Given the description of an element on the screen output the (x, y) to click on. 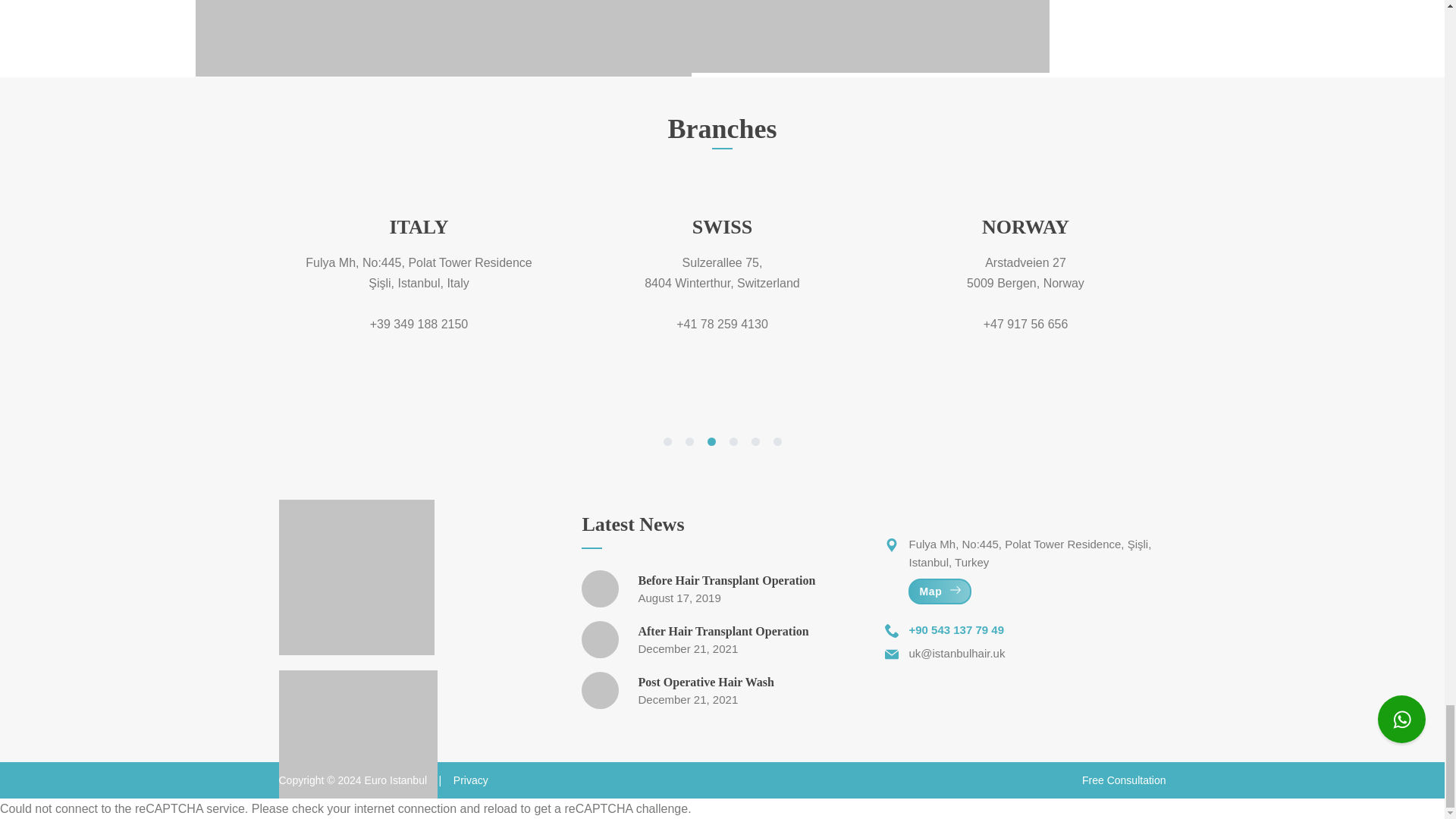
dentco (356, 577)
